Given the description of an element on the screen output the (x, y) to click on. 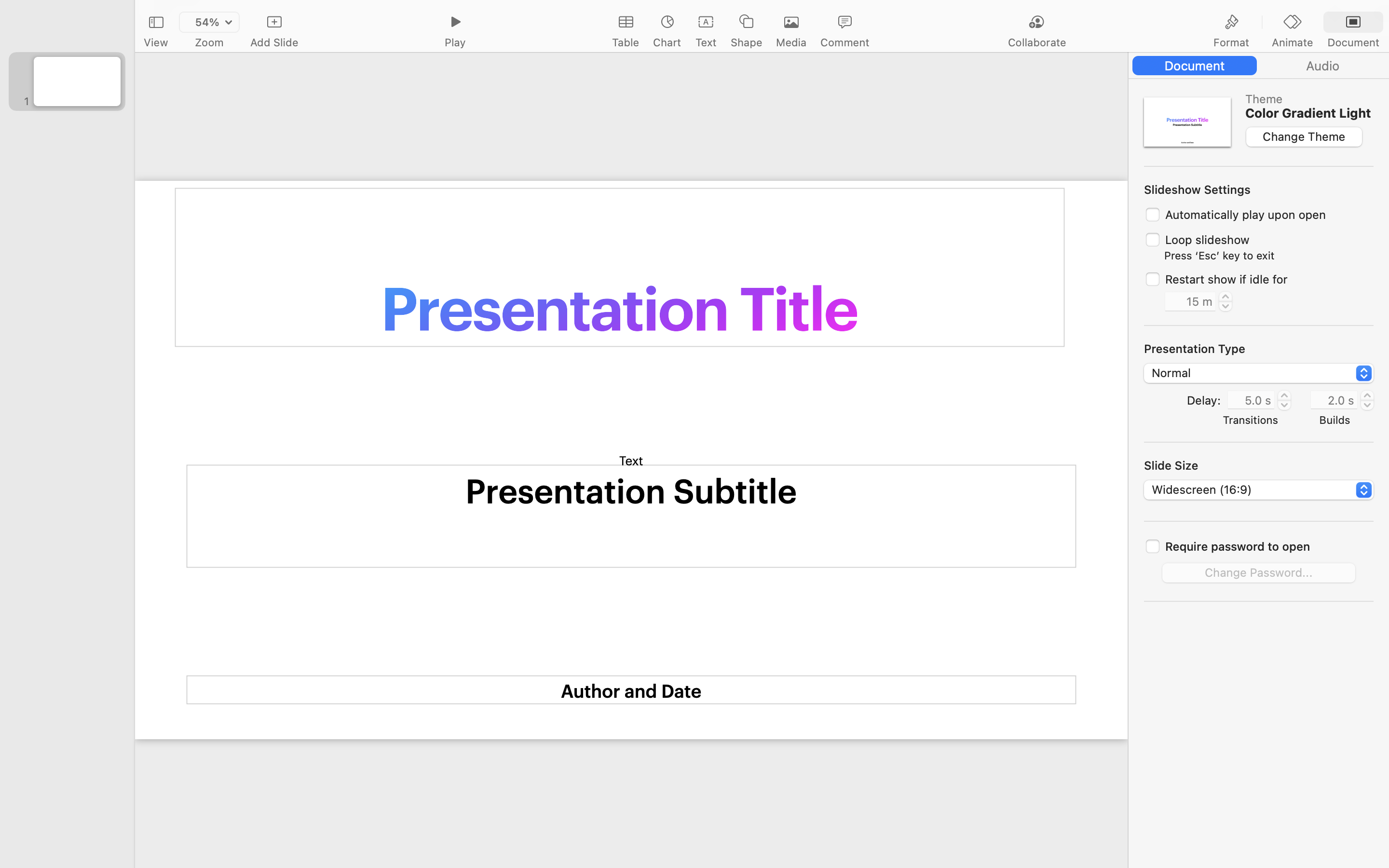
5.0 Element type: AXIncrementor (1284, 399)
Widescreen (16:9) Element type: AXPopUpButton (1259, 491)
2.0 Element type: AXIncrementor (1367, 399)
15 m Element type: AXTextField (1190, 301)
